Given the description of an element on the screen output the (x, y) to click on. 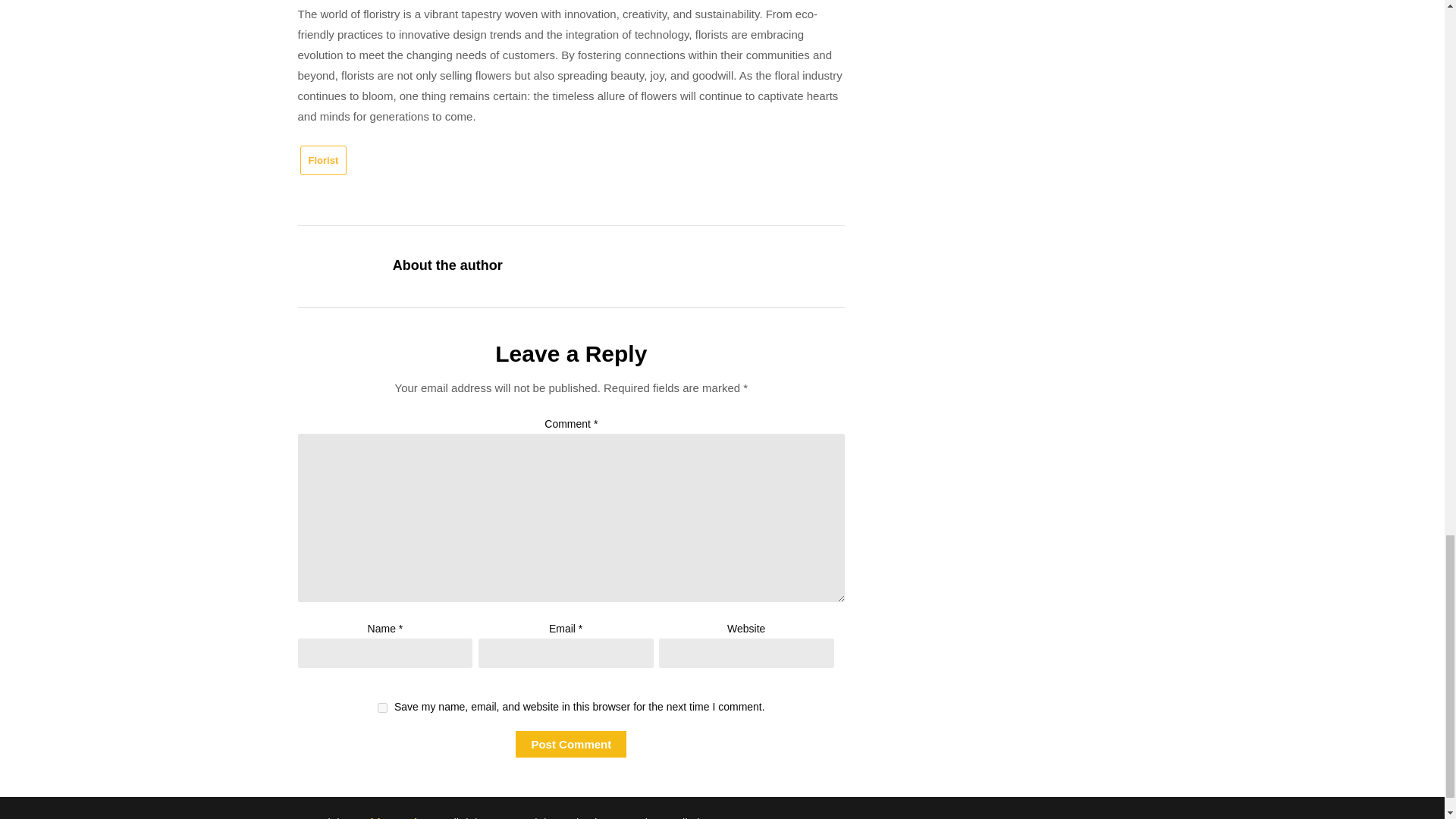
Post Comment (570, 744)
Post Comment (570, 744)
Florist (323, 160)
yes (382, 707)
